Given the description of an element on the screen output the (x, y) to click on. 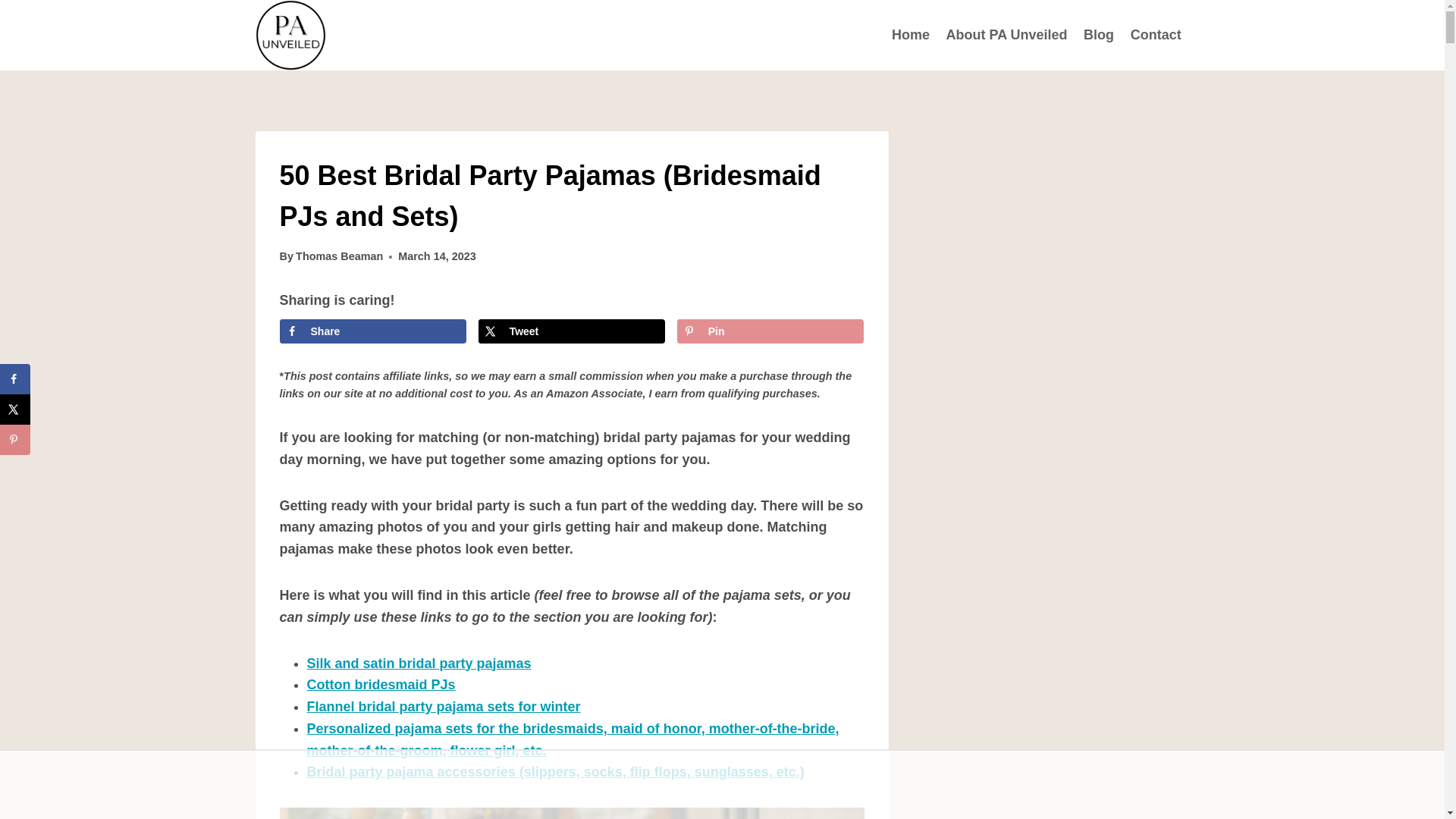
Blog (1098, 34)
Thomas Beaman (338, 256)
Cotton bridesmaid PJs (379, 684)
About PA Unveiled (1006, 34)
Flannel bridal party pajama sets for winter (442, 706)
Tweet (572, 331)
Contact (1155, 34)
Save to Pinterest (770, 331)
Share on X (572, 331)
Share (372, 331)
Home (910, 34)
Share on Facebook (372, 331)
Pin (770, 331)
Silk and satin bridal party pajamas (418, 662)
